Given the description of an element on the screen output the (x, y) to click on. 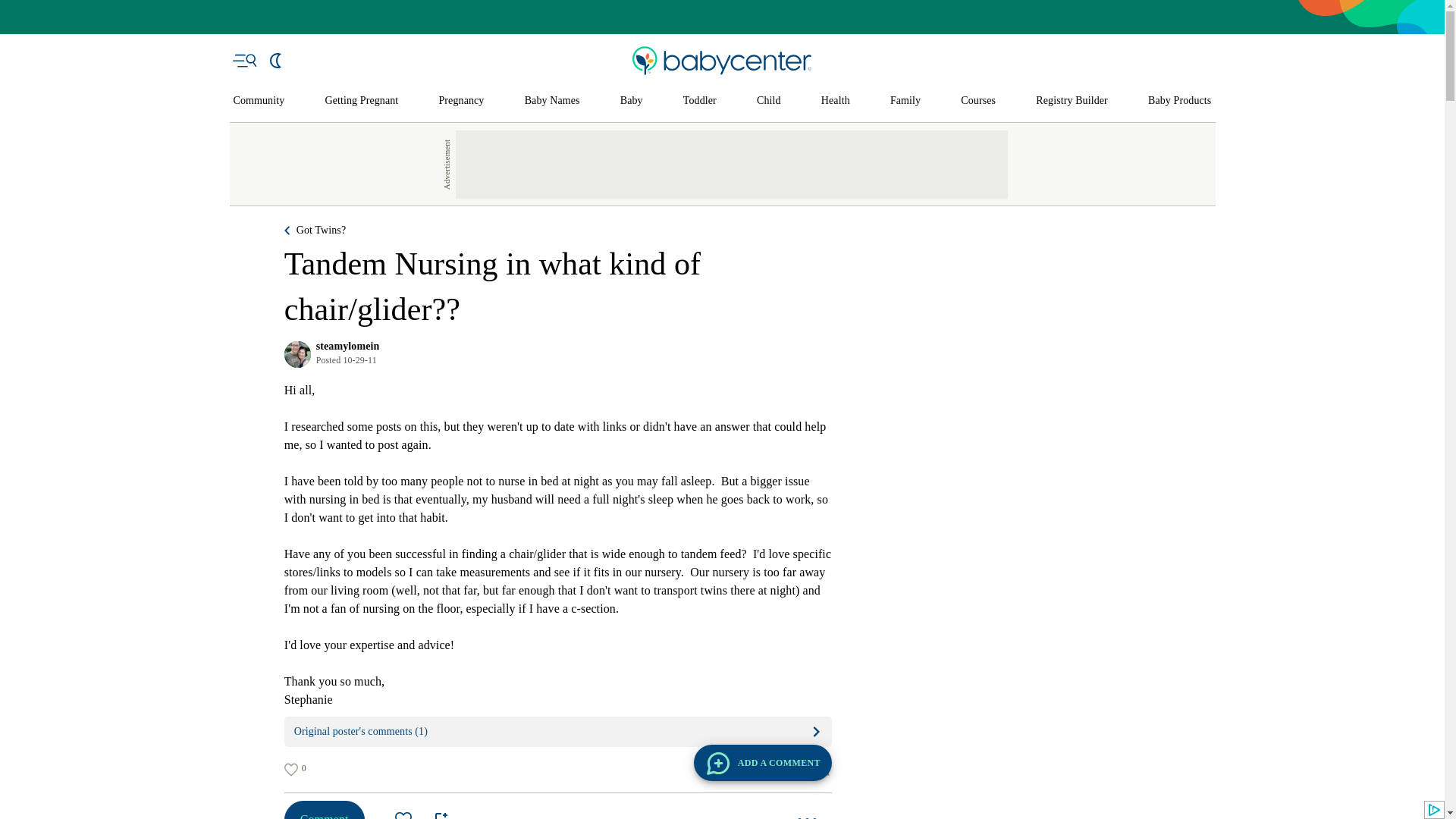
Registry Builder (1071, 101)
Health (835, 101)
Community (258, 101)
Getting Pregnant (360, 101)
Baby Names (551, 101)
Courses (977, 101)
Family (904, 101)
Baby (631, 101)
Pregnancy (460, 101)
Toddler (699, 101)
Child (768, 101)
Baby Products (1179, 101)
